Given the description of an element on the screen output the (x, y) to click on. 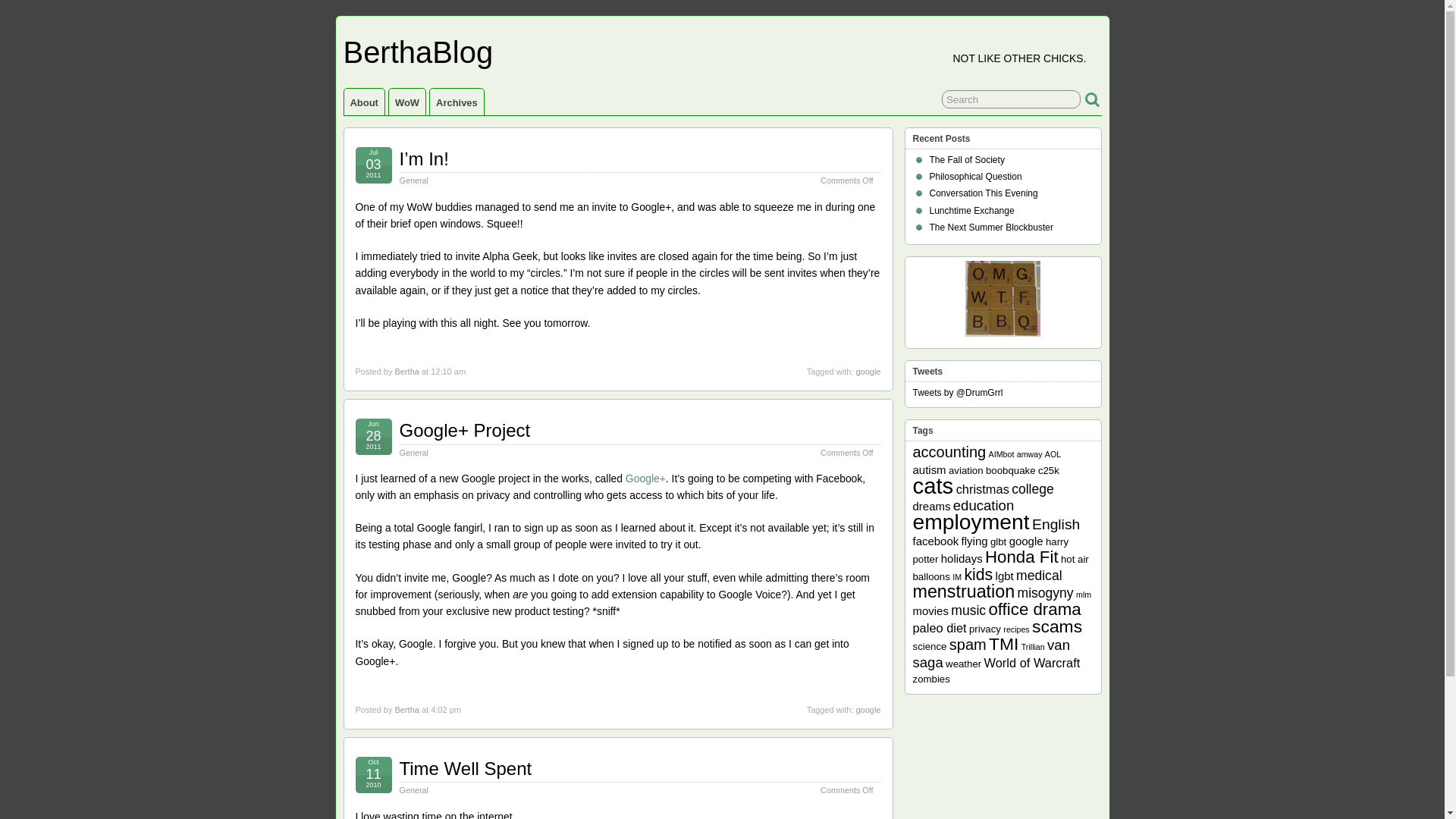
Bertha (406, 370)
AOL (1053, 453)
christmas (982, 489)
google (868, 709)
Search (1011, 99)
Conversation This Evening (984, 193)
boobquake (1010, 469)
aviation (966, 469)
Philosophical Question (976, 176)
General (413, 789)
Bertha (406, 709)
The Fall of Society (967, 159)
c25k (1048, 469)
Lunchtime Exchange (972, 210)
Archives (456, 101)
